Given the description of an element on the screen output the (x, y) to click on. 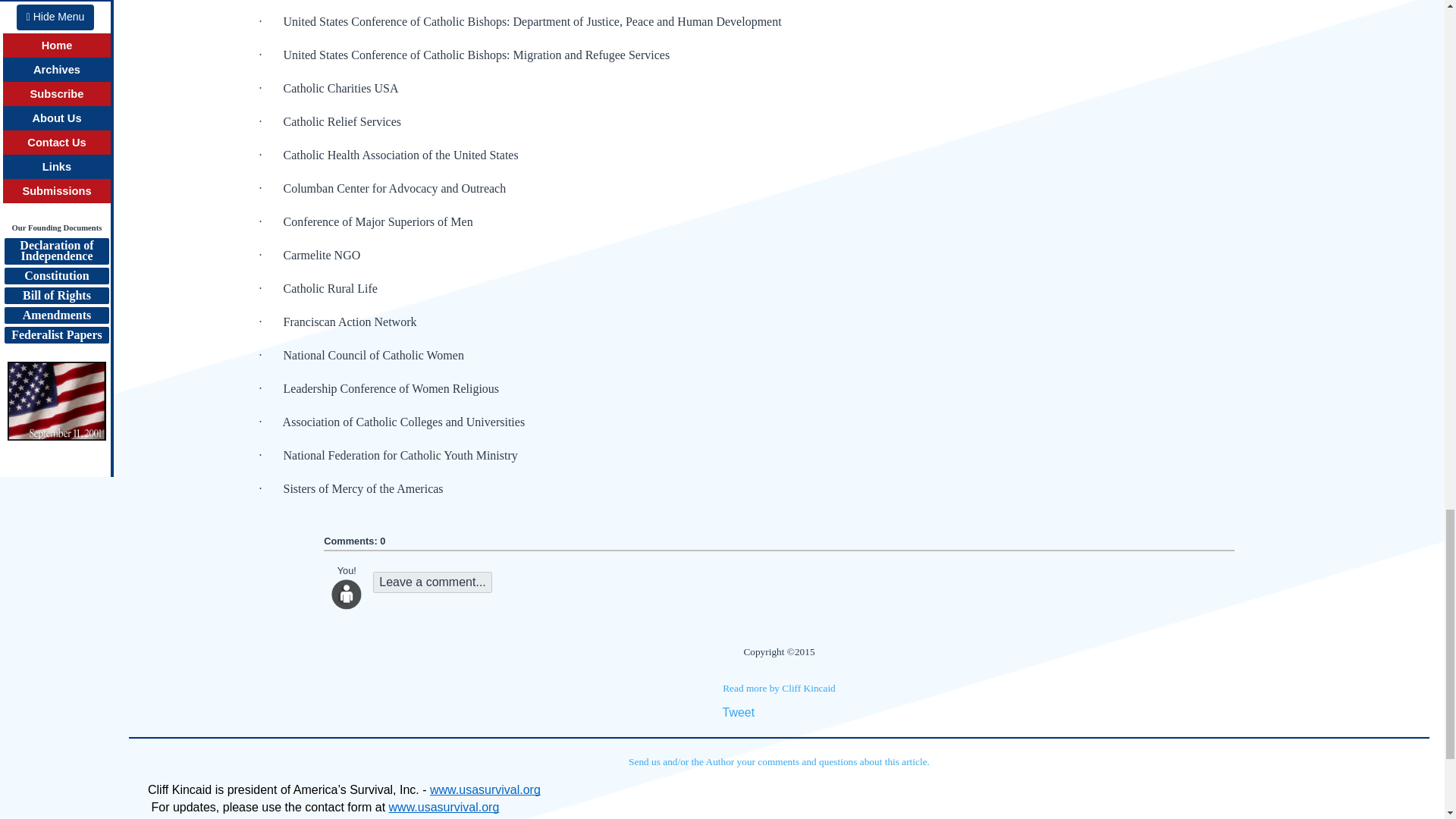
www.usasurvival.org (484, 790)
Leave a comment... (432, 581)
Read more by Cliff Kincaid (778, 687)
www.usasurvival.org (443, 807)
Tweet (738, 712)
